Given the description of an element on the screen output the (x, y) to click on. 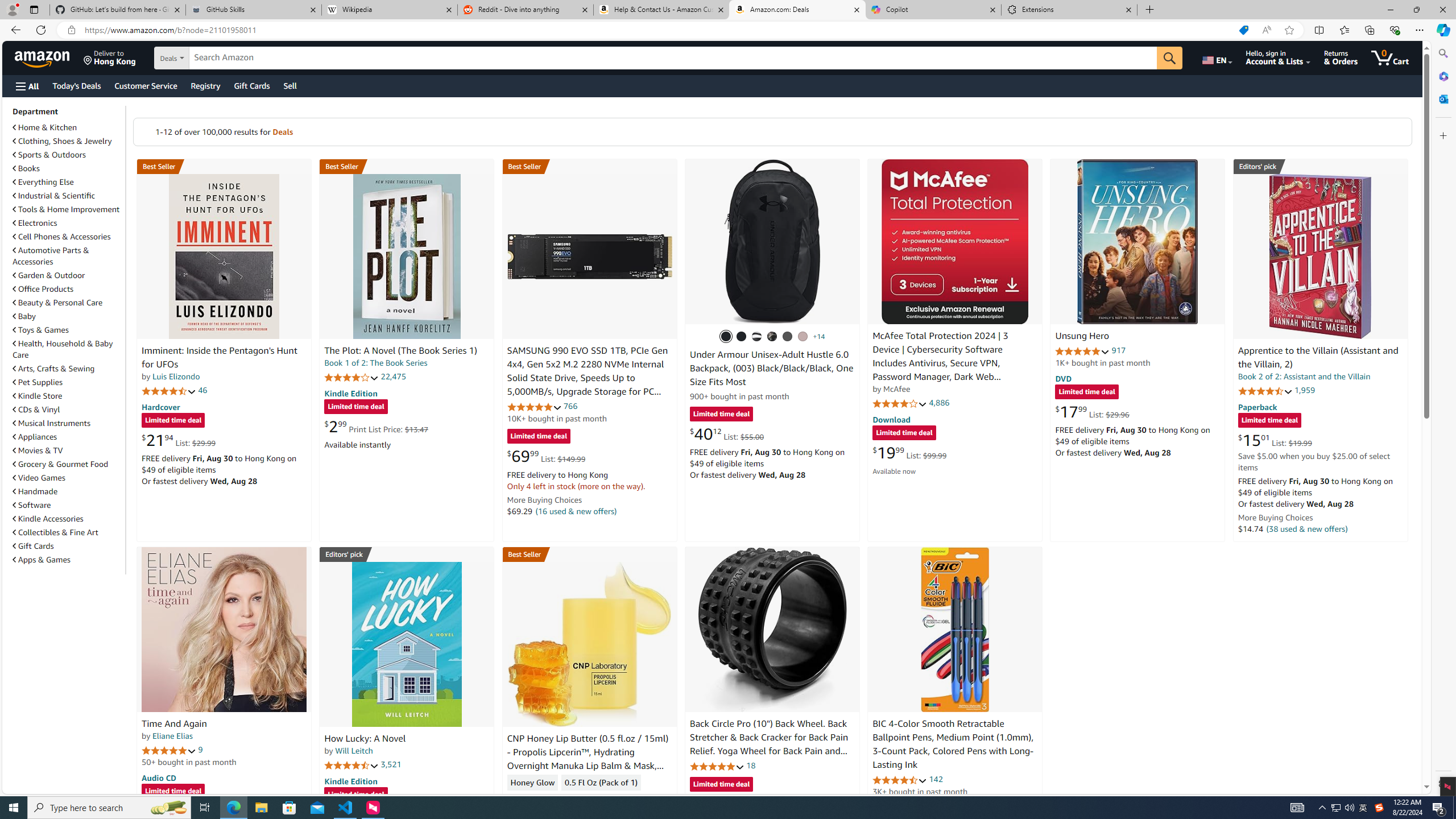
Returns & Orders (1340, 57)
Toys & Games (40, 329)
Pet Supplies (67, 382)
Cell Phones & Accessories (67, 236)
4.6 out of 5 stars (899, 779)
4.9 out of 5 stars (1082, 351)
Editors' pick Best Mystery, Thriller & Suspense (406, 553)
Arts, Crafts & Sewing (67, 368)
Books (67, 167)
Customer Service (145, 85)
Video Games (67, 477)
Collectibles & Fine Art (56, 532)
Appliances (67, 436)
